Given the description of an element on the screen output the (x, y) to click on. 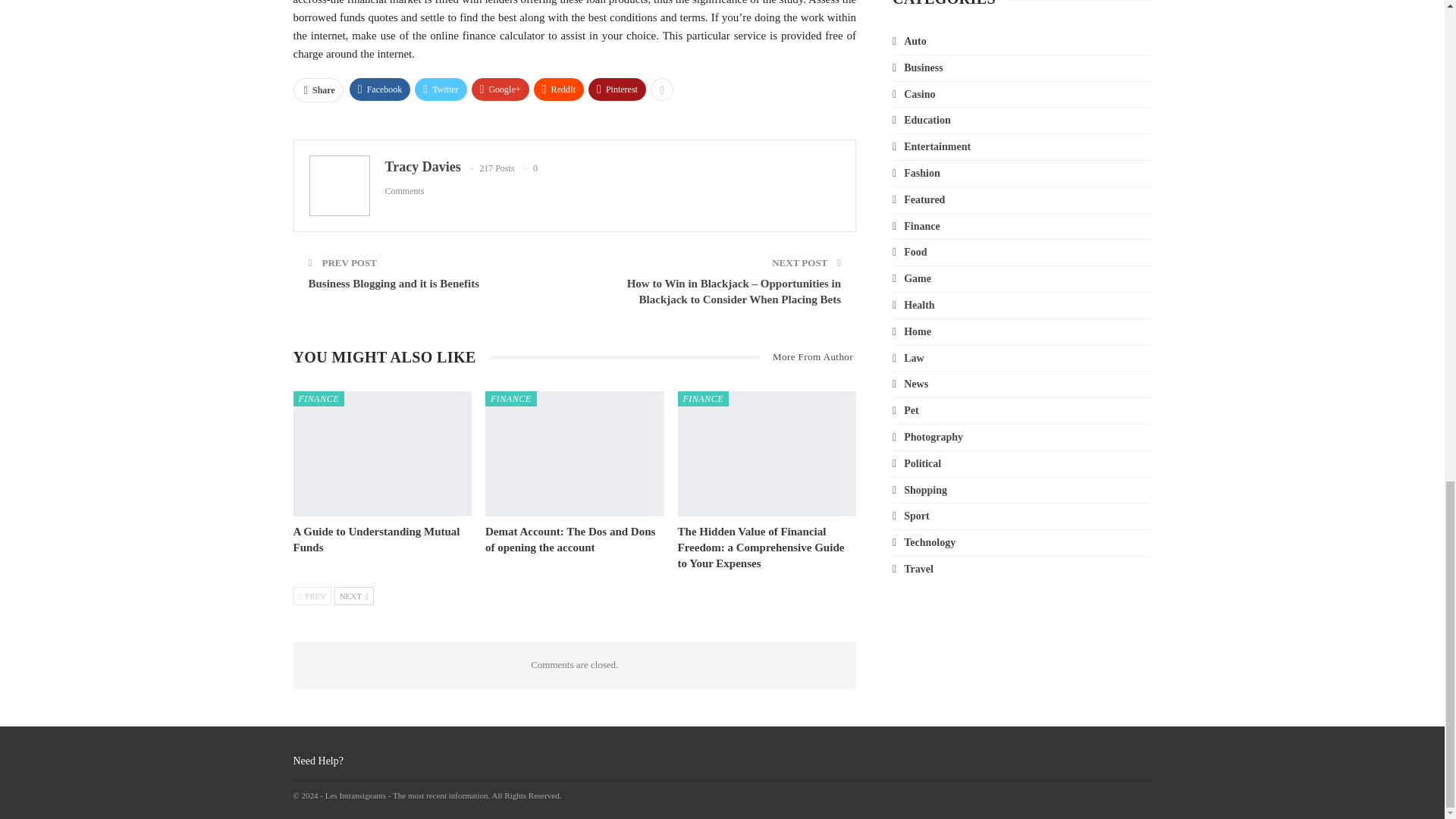
Twitter (439, 88)
A Guide to Understanding Mutual Funds (381, 453)
A Guide to Understanding Mutual Funds (376, 539)
ReddIt (559, 88)
Next (354, 596)
Previous (311, 596)
Facebook (379, 88)
